Given the description of an element on the screen output the (x, y) to click on. 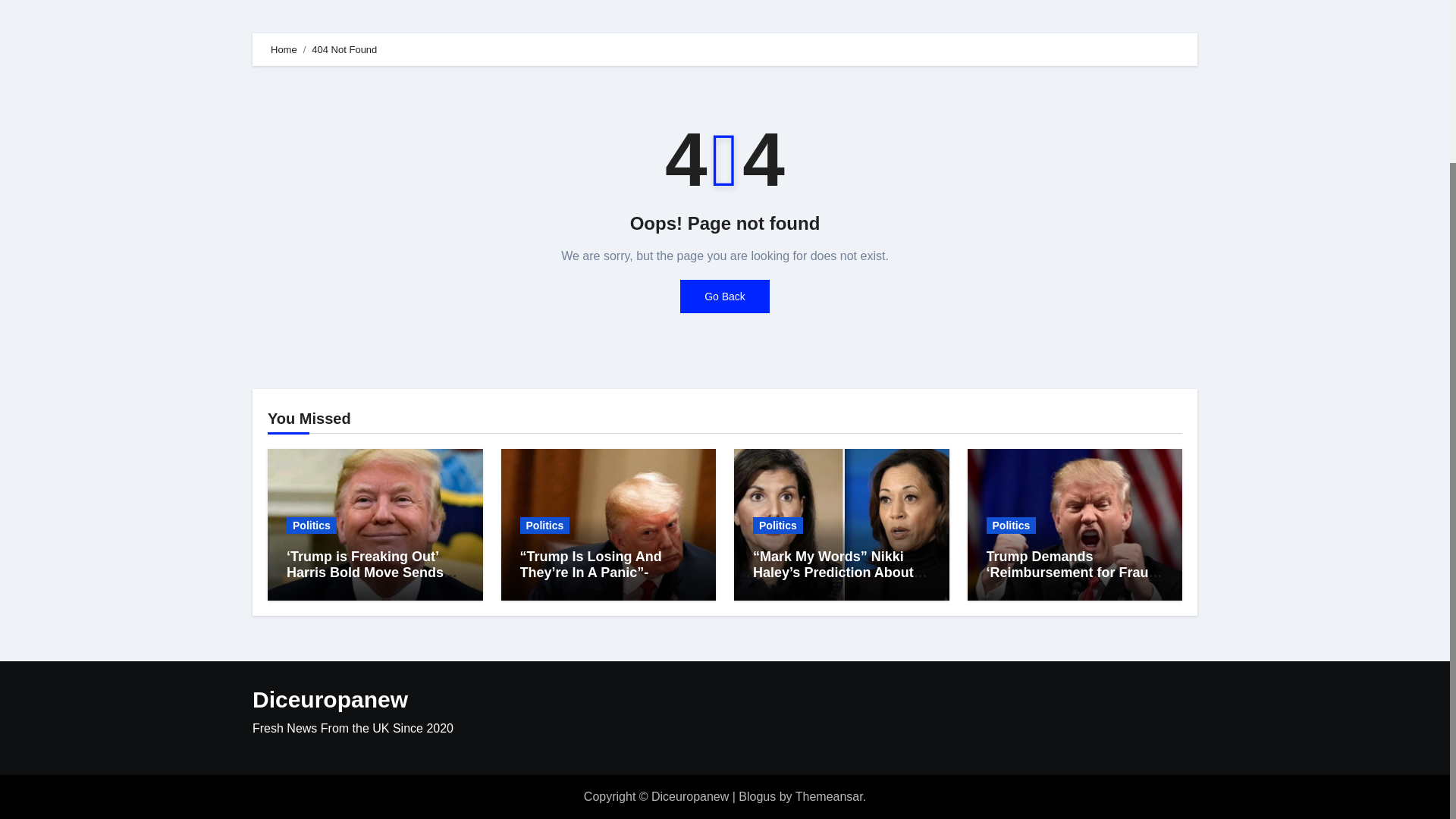
Themeansar (828, 796)
Blogus (757, 796)
Home (283, 49)
Politics (777, 524)
Politics (544, 524)
Diceuropanew (329, 699)
Politics (1010, 524)
Politics (311, 524)
Go Back (724, 296)
